Given the description of an element on the screen output the (x, y) to click on. 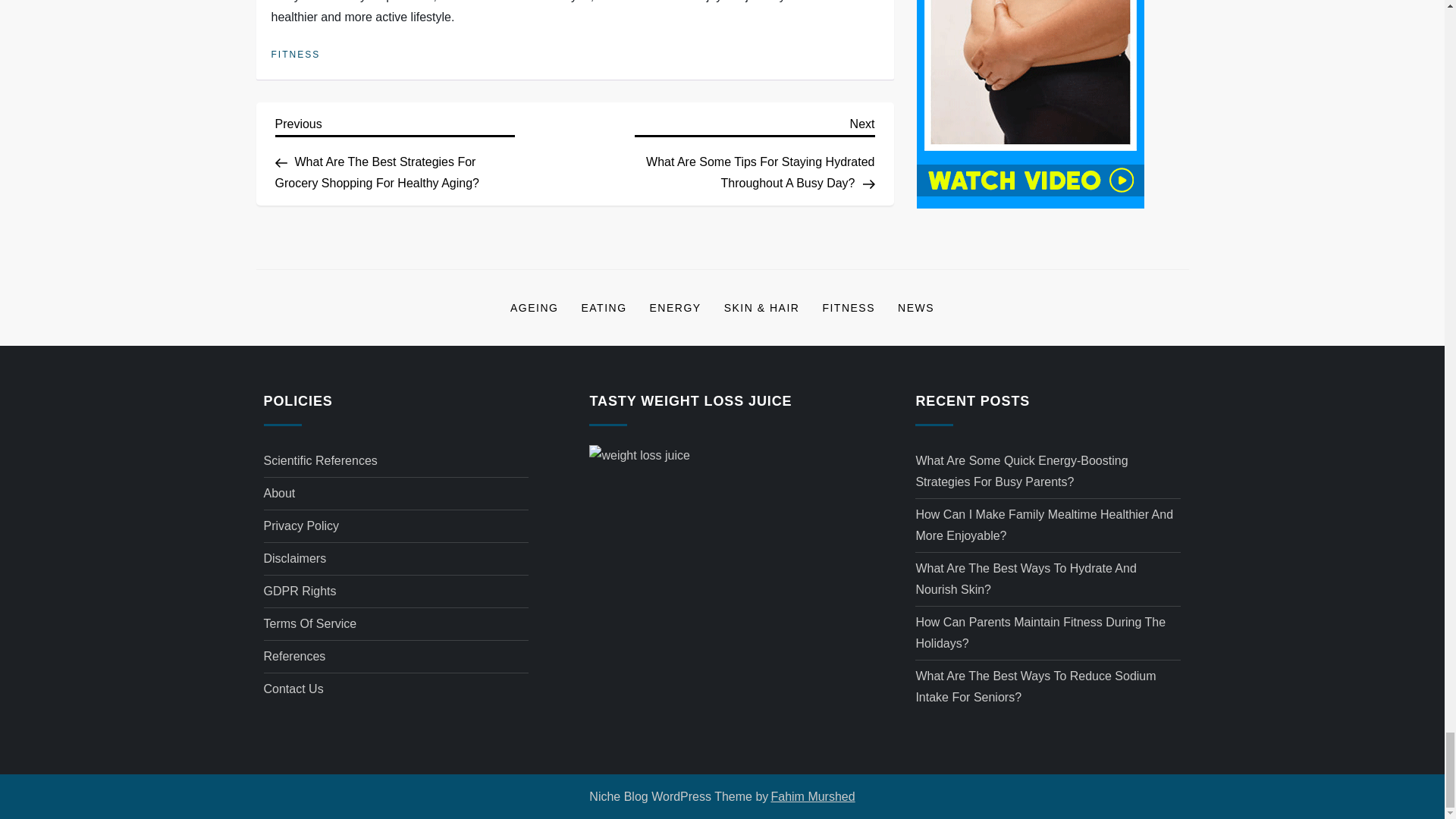
Contact Us (293, 689)
FITNESS (848, 307)
Terms Of Service (309, 623)
Privacy Policy (301, 526)
NEWS (915, 307)
GDPR Rights (299, 590)
ENERGY (676, 307)
References (294, 656)
Disclaimers (294, 558)
AGEING (534, 307)
EATING (603, 307)
FITNESS (295, 55)
